Given the description of an element on the screen output the (x, y) to click on. 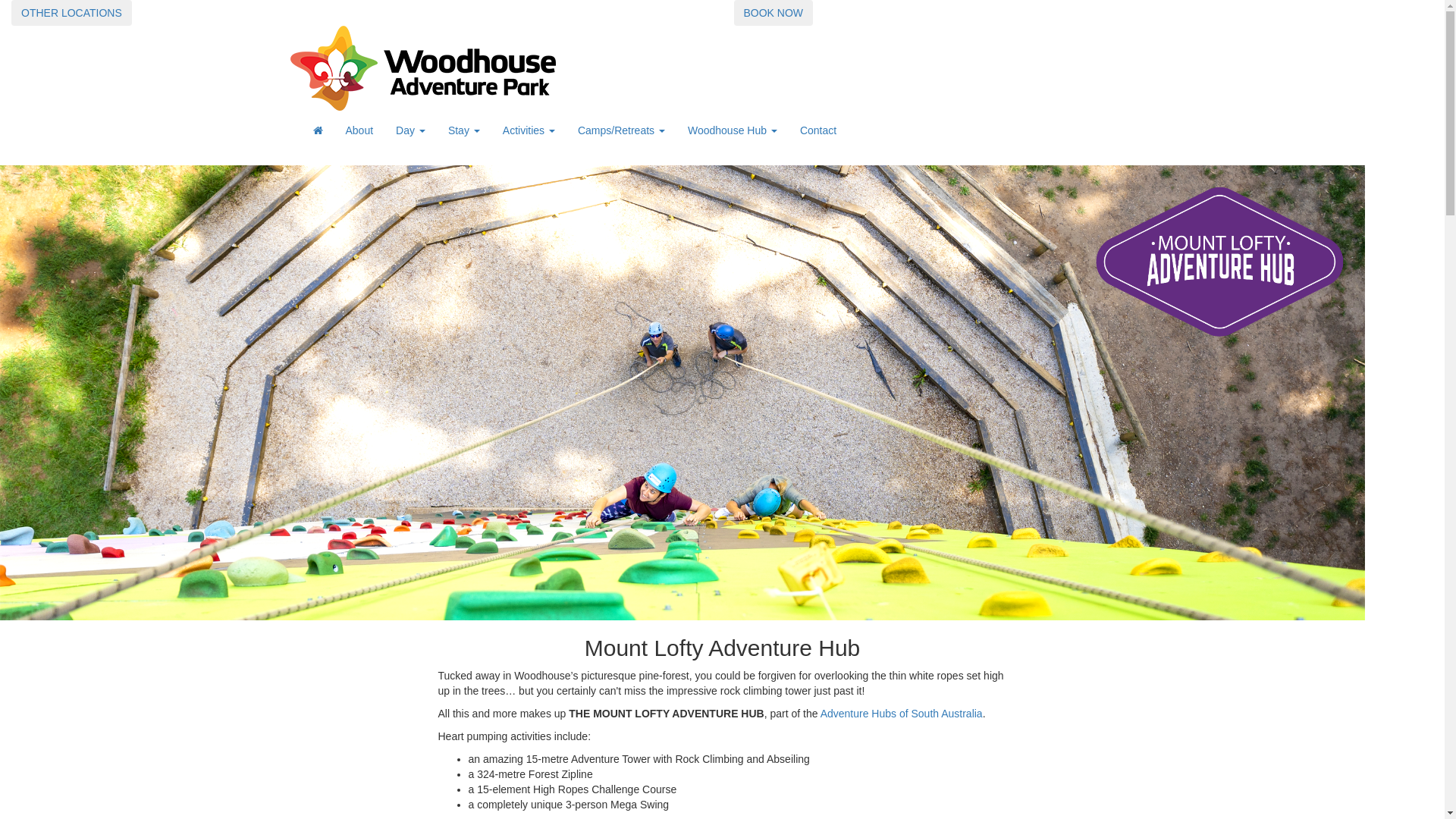
BOOK NOW Element type: text (773, 12)
Adventure Hubs of South Australia Element type: text (901, 713)
OTHER LOCATIONS Element type: text (71, 12)
Camps/Retreats Element type: text (621, 130)
Woodhouse Hub Element type: text (732, 130)
BOOK NOW Element type: text (773, 12)
About Element type: text (358, 130)
Day Element type: text (410, 130)
OTHER LOCATIONS Element type: text (71, 12)
Activities Element type: text (528, 130)
Contact Element type: text (817, 130)
Stay Element type: text (463, 130)
